Given the description of an element on the screen output the (x, y) to click on. 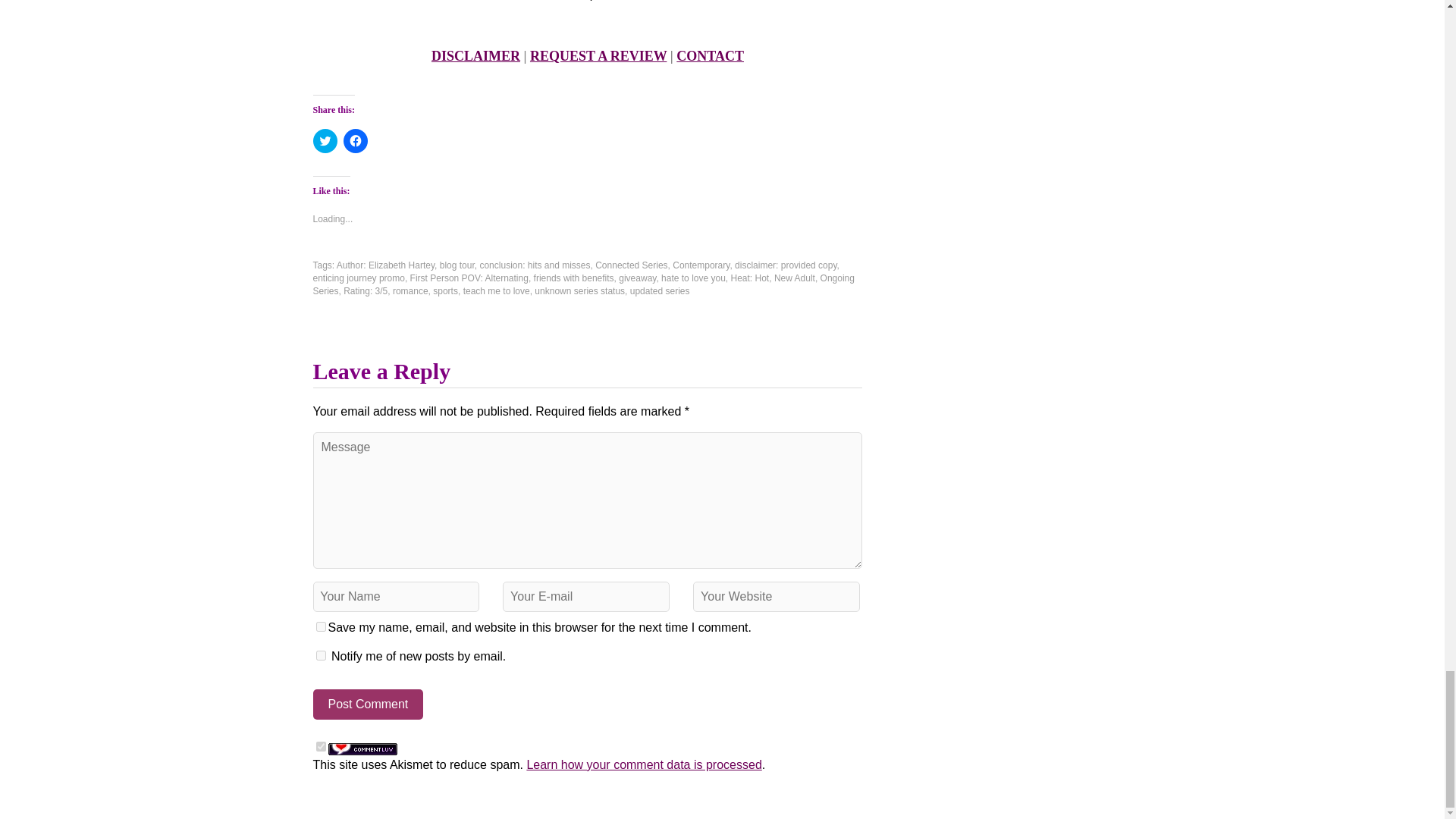
yes (319, 626)
Click to share on Twitter (324, 140)
Click to share on Facebook (354, 140)
on (319, 746)
subscribe (319, 655)
Post Comment (368, 704)
